Given the description of an element on the screen output the (x, y) to click on. 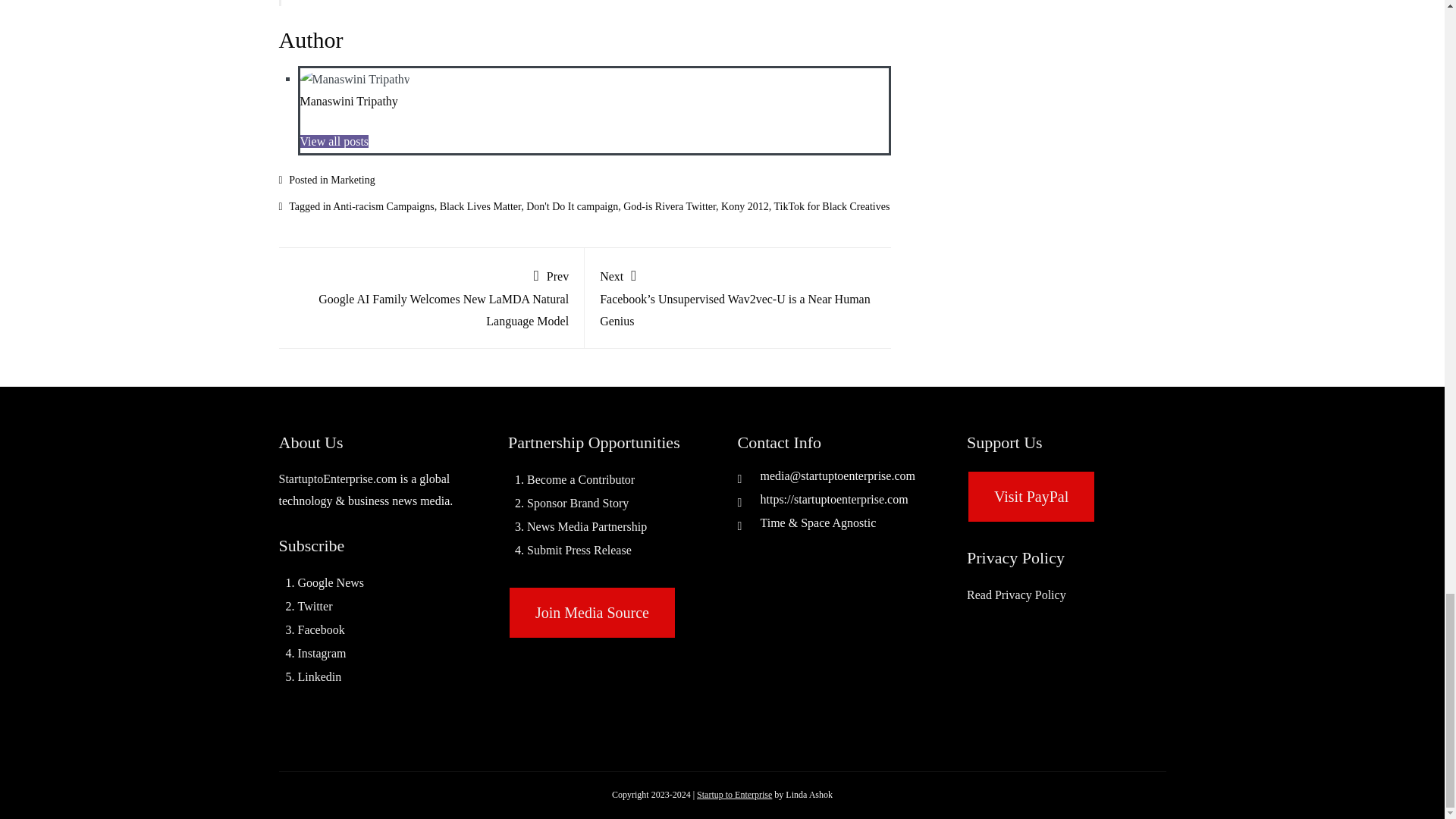
View all posts (334, 141)
Download Viral News (734, 794)
Marketing (352, 179)
Don't Do It campaign (571, 206)
Manaswini Tripathy (348, 101)
Black Lives Matter (480, 206)
Kony 2012 (744, 206)
God-is Rivera Twitter (669, 206)
Manaswini Tripathy (348, 101)
Anti-racism Campaigns (383, 206)
View all posts (334, 141)
